Given the description of an element on the screen output the (x, y) to click on. 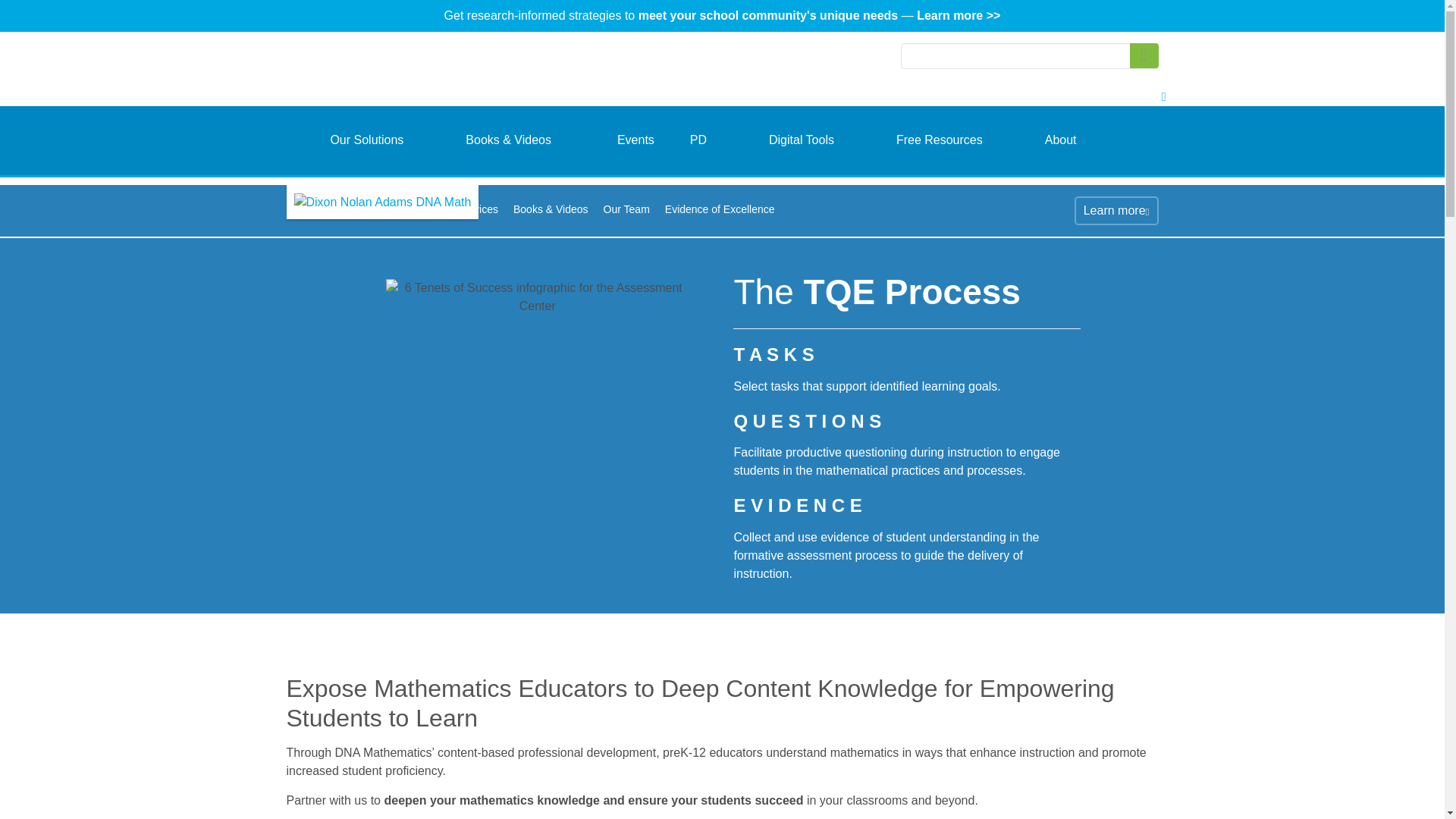
Search (1143, 55)
Search (1143, 55)
Our Solutions (366, 140)
